Given the description of an element on the screen output the (x, y) to click on. 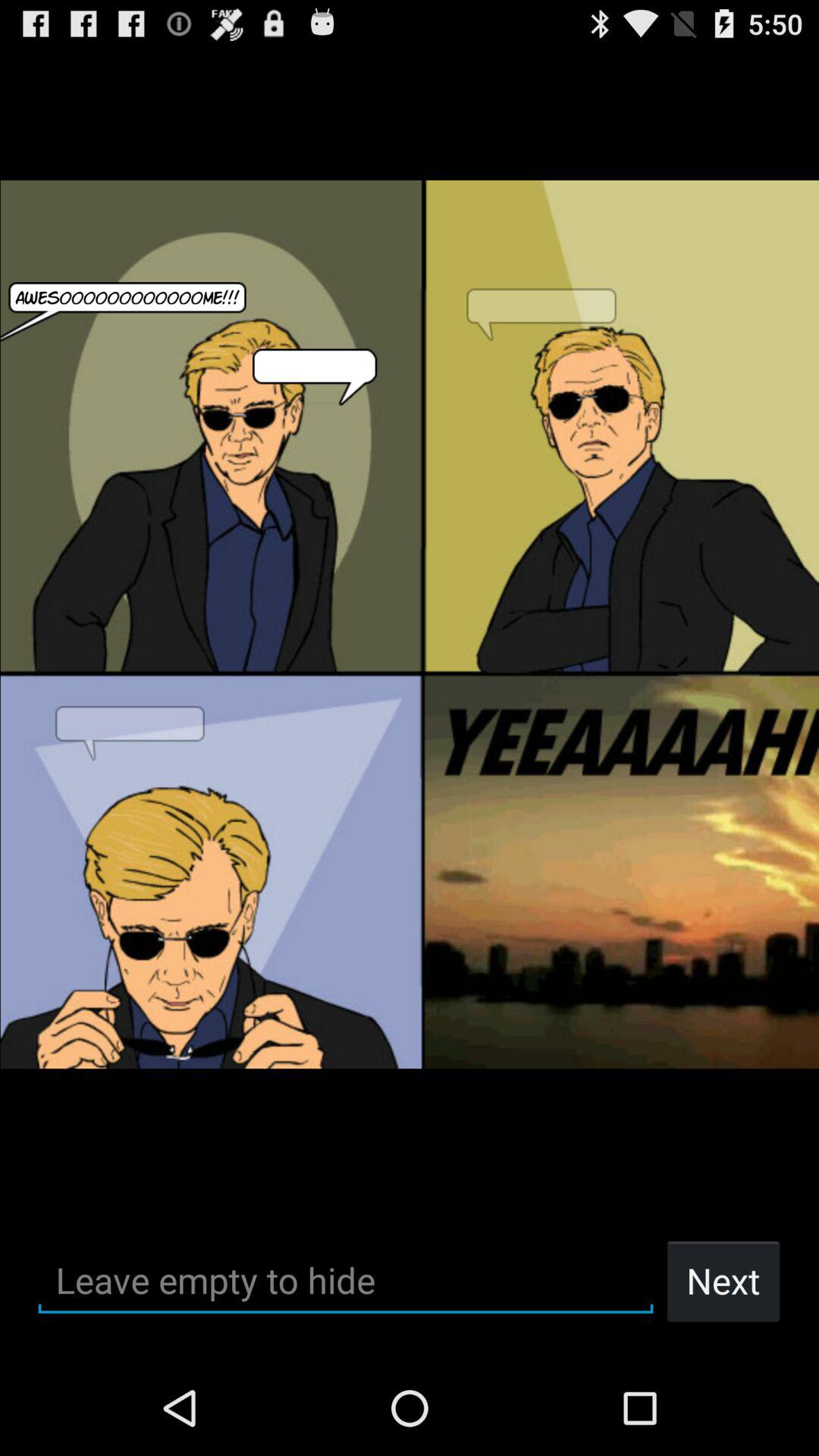
add text (345, 1280)
